Given the description of an element on the screen output the (x, y) to click on. 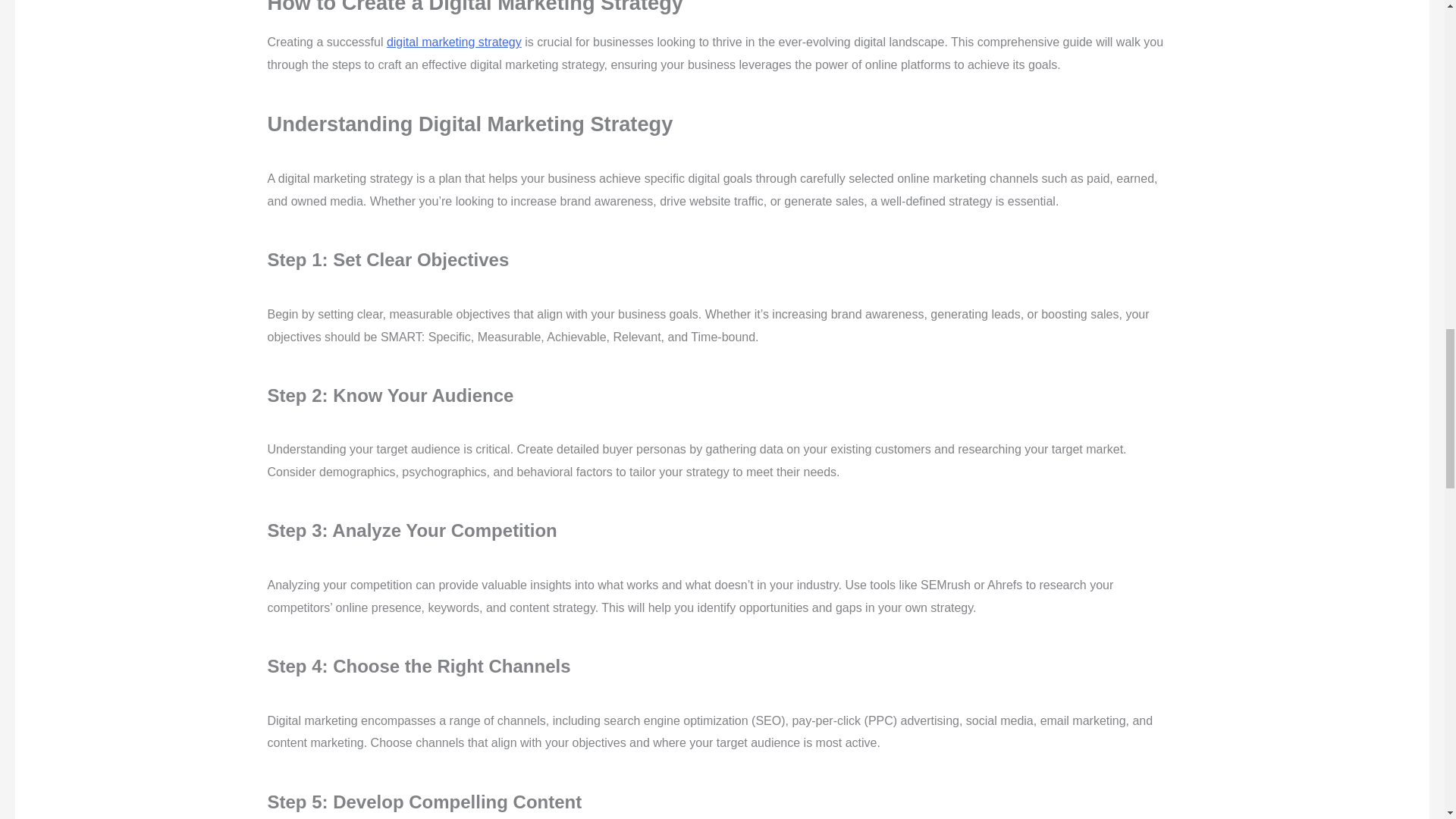
digital marketing strategy (454, 42)
